Given the description of an element on the screen output the (x, y) to click on. 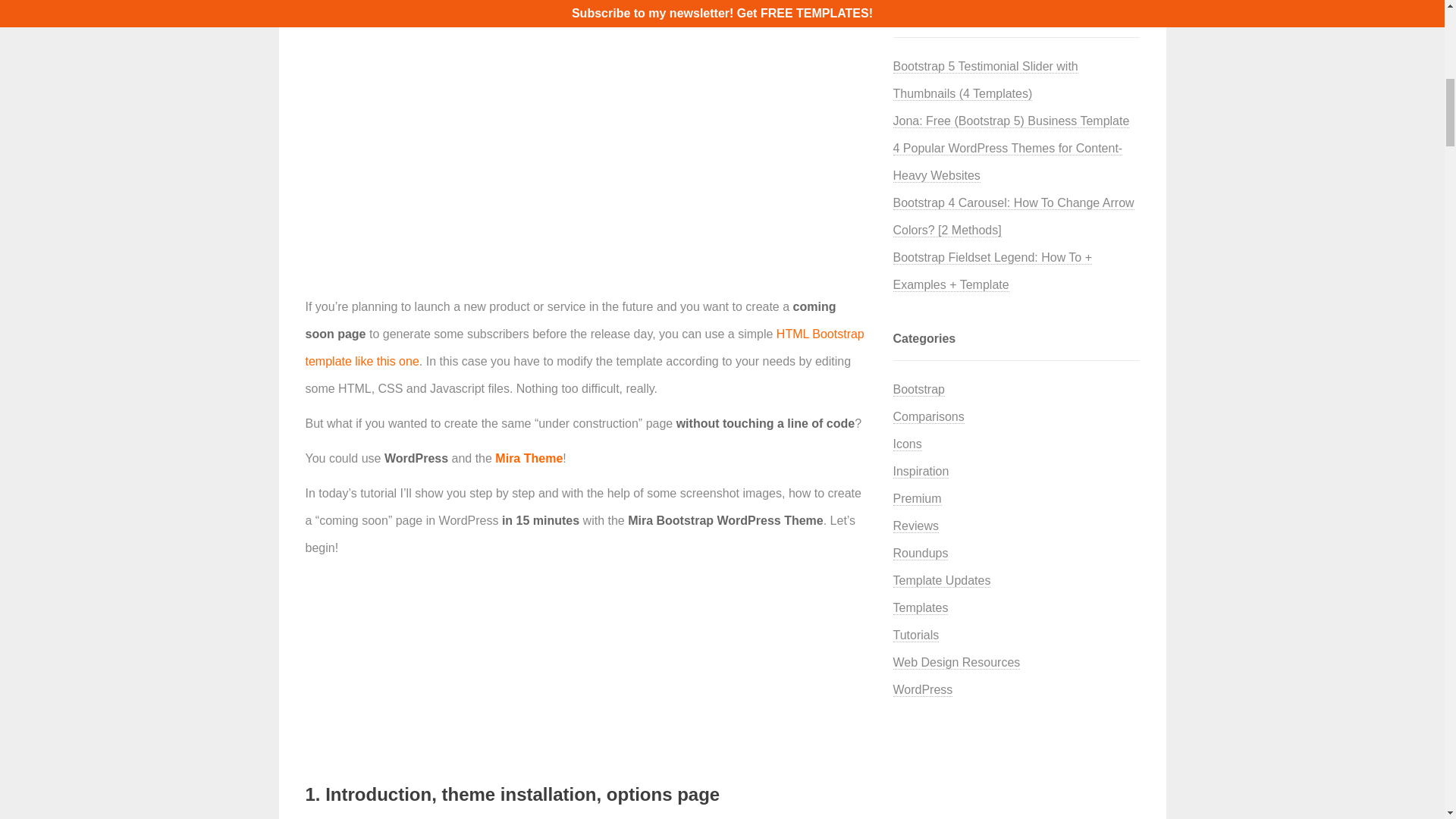
Mira Theme (528, 458)
HTML Bootstrap template like this one (583, 347)
Mira - Coming Soon Page WordPress Tutorial (467, 39)
